Given the description of an element on the screen output the (x, y) to click on. 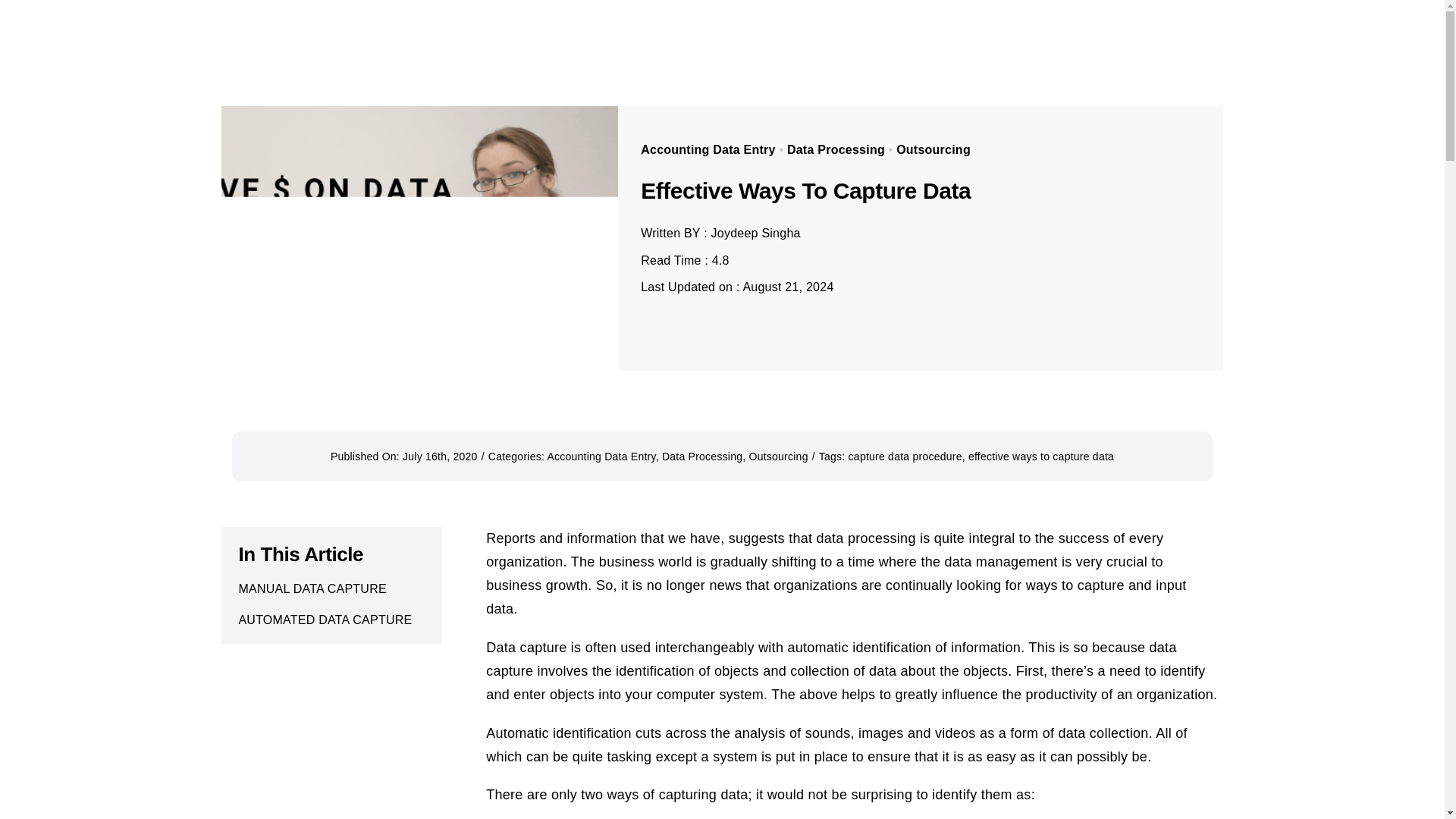
Accounting Data Entry (708, 149)
effective-ways-to-capture-data (419, 238)
Data Processing (836, 149)
Outsourcing (933, 149)
